Given the description of an element on the screen output the (x, y) to click on. 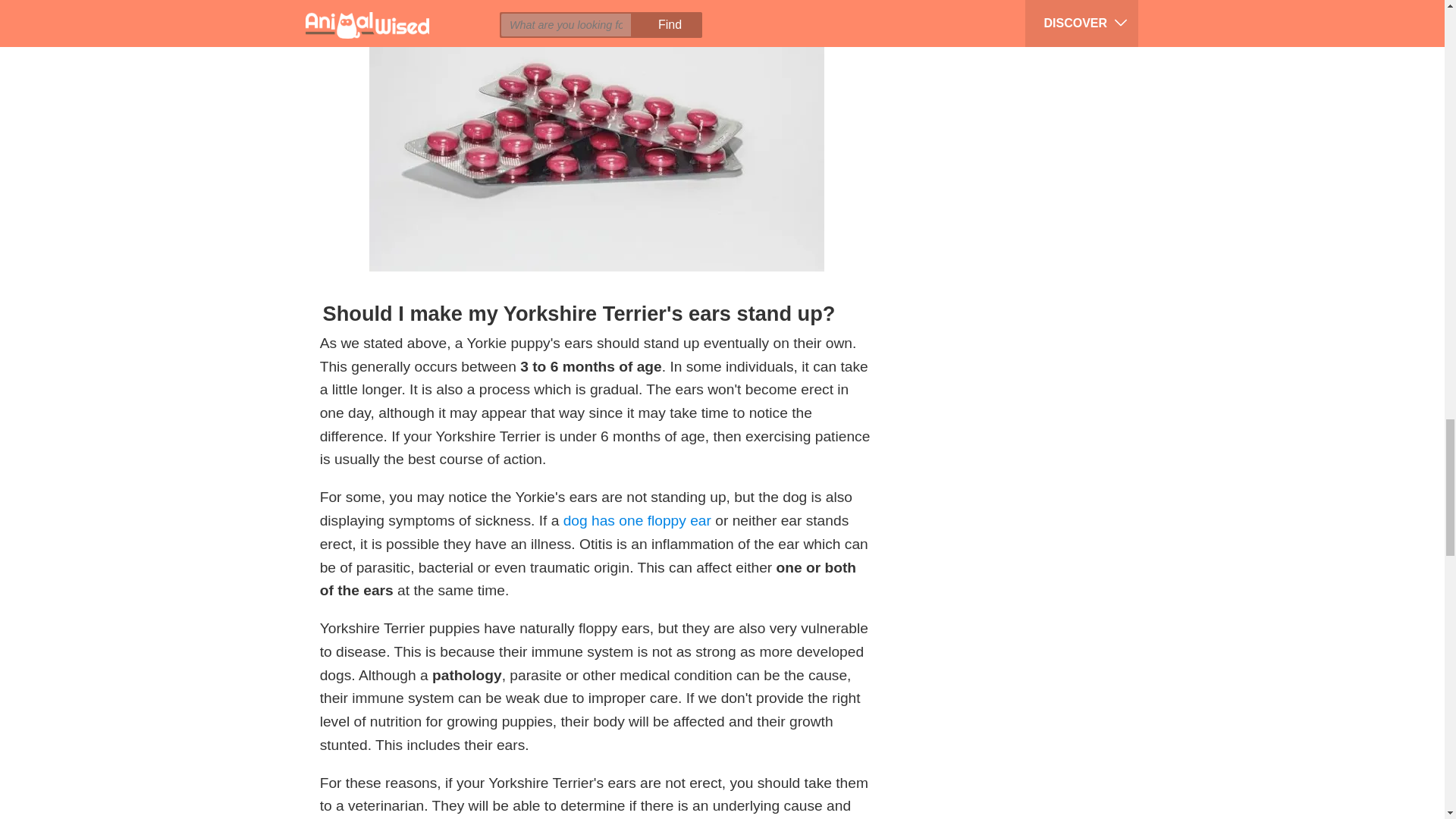
dog has one floppy ear (637, 520)
